Given the description of an element on the screen output the (x, y) to click on. 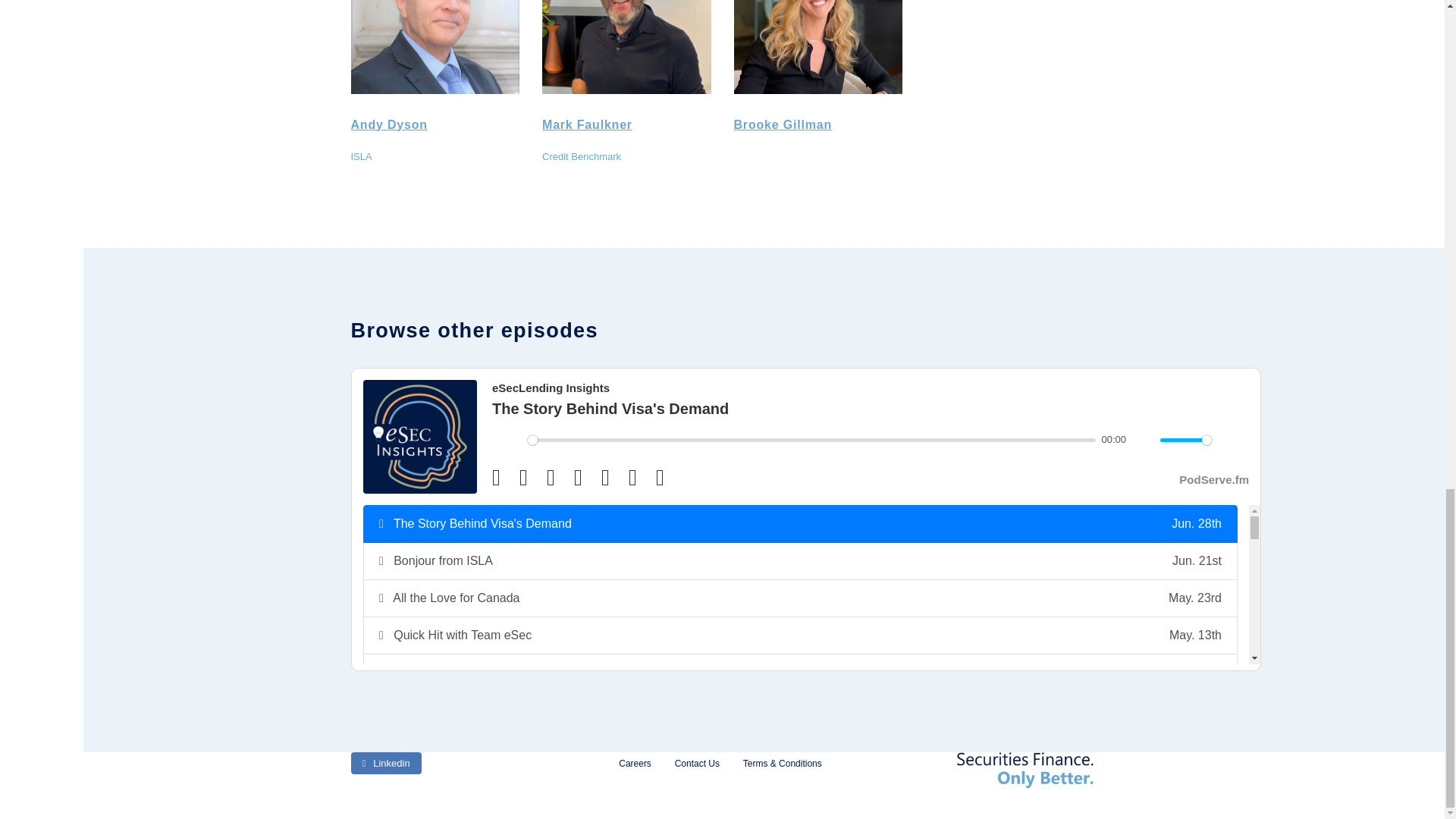
Careers (634, 764)
Contact Us (697, 764)
Linkedin (385, 763)
Brooke Gillman (782, 124)
